Given the description of an element on the screen output the (x, y) to click on. 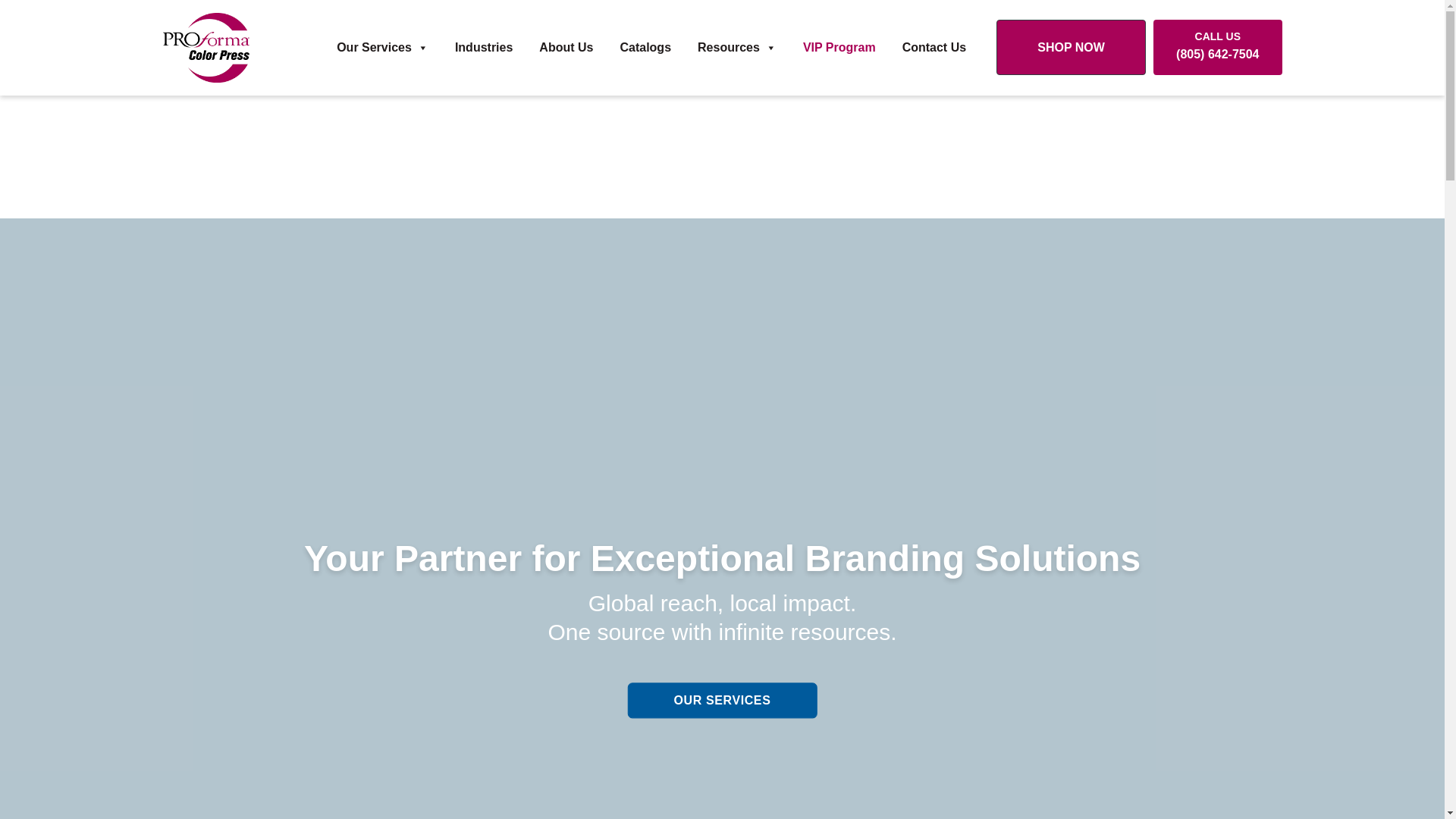
SHOP NOW (1070, 47)
Our Services (382, 47)
OUR SERVICES (721, 701)
Resources (737, 47)
About Us (565, 47)
Catalogs (645, 47)
Industries (483, 47)
VIP Program (839, 47)
OUR SERVICES (721, 701)
Contact Us (933, 47)
